Given the description of an element on the screen output the (x, y) to click on. 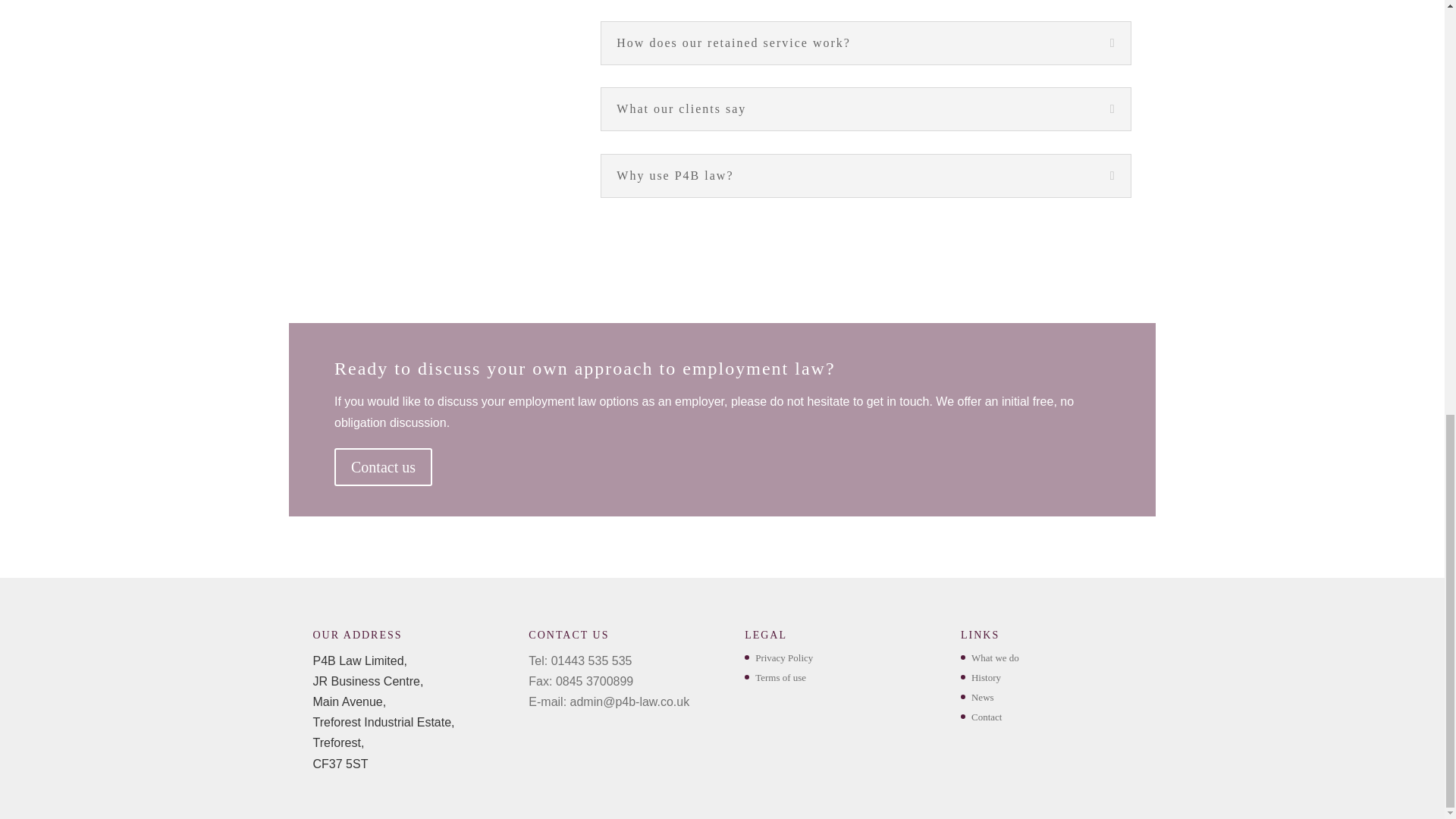
History (986, 677)
Fax: 0845 3700899 (580, 680)
Privacy Policy (783, 657)
Terms of use (780, 677)
What we do (995, 657)
Contact us (383, 466)
Tel: 01443 535 535 (579, 660)
